Given the description of an element on the screen output the (x, y) to click on. 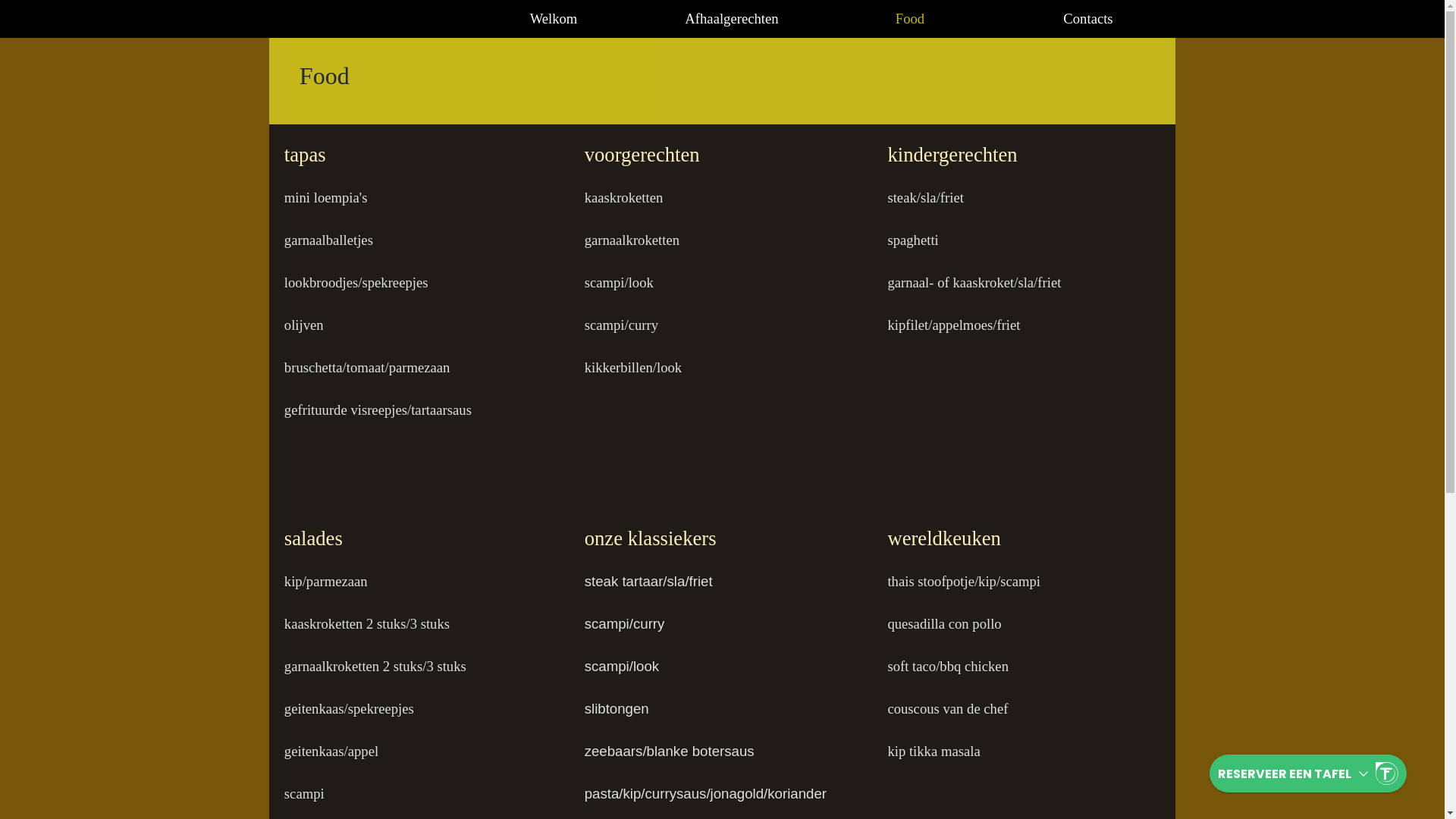
Afhaalgerechten Element type: text (732, 18)
Food Element type: text (909, 18)
Contacts Element type: text (1088, 18)
Welkom Element type: text (553, 18)
